Given the description of an element on the screen output the (x, y) to click on. 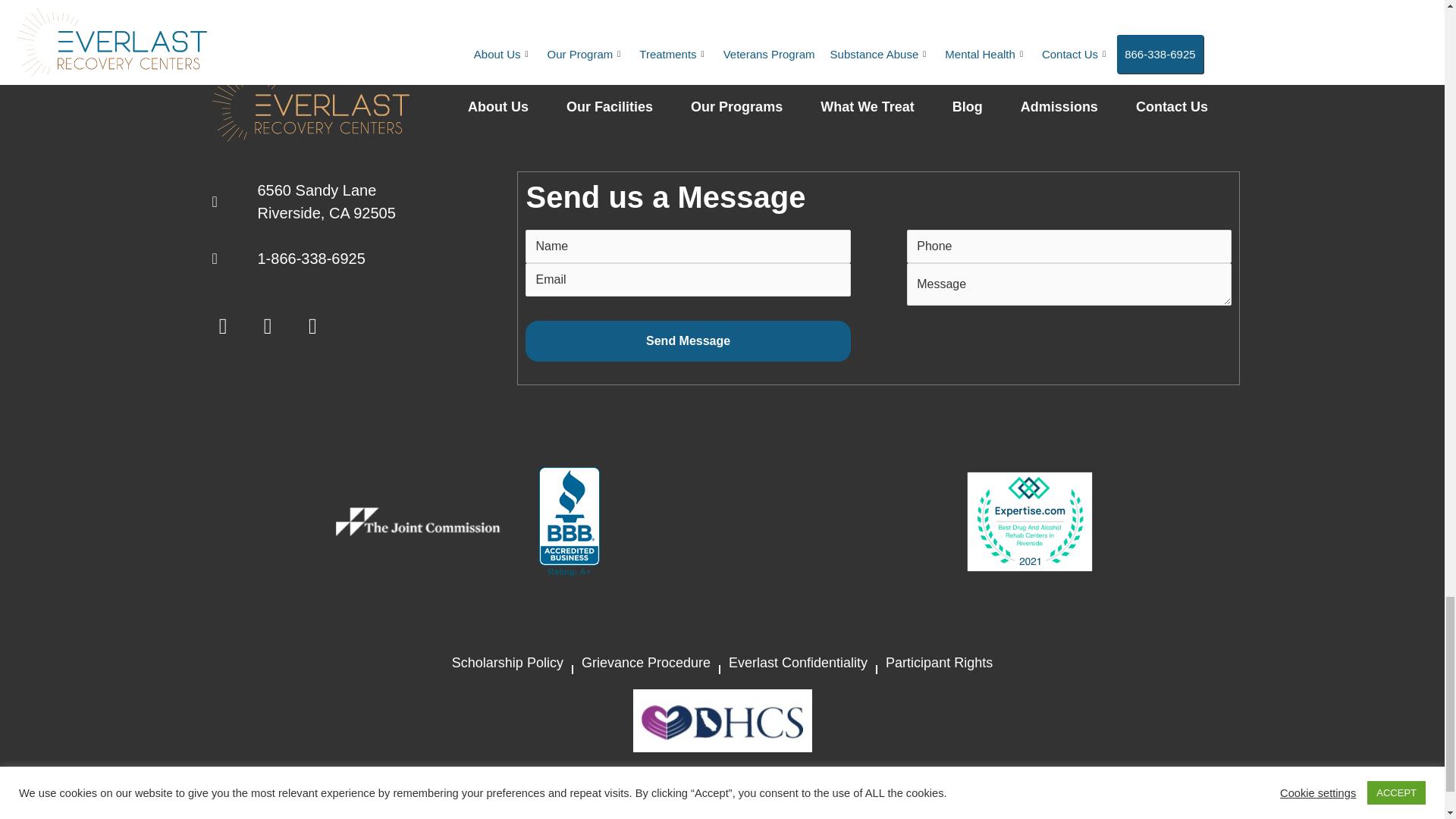
Send Message (687, 341)
